Given the description of an element on the screen output the (x, y) to click on. 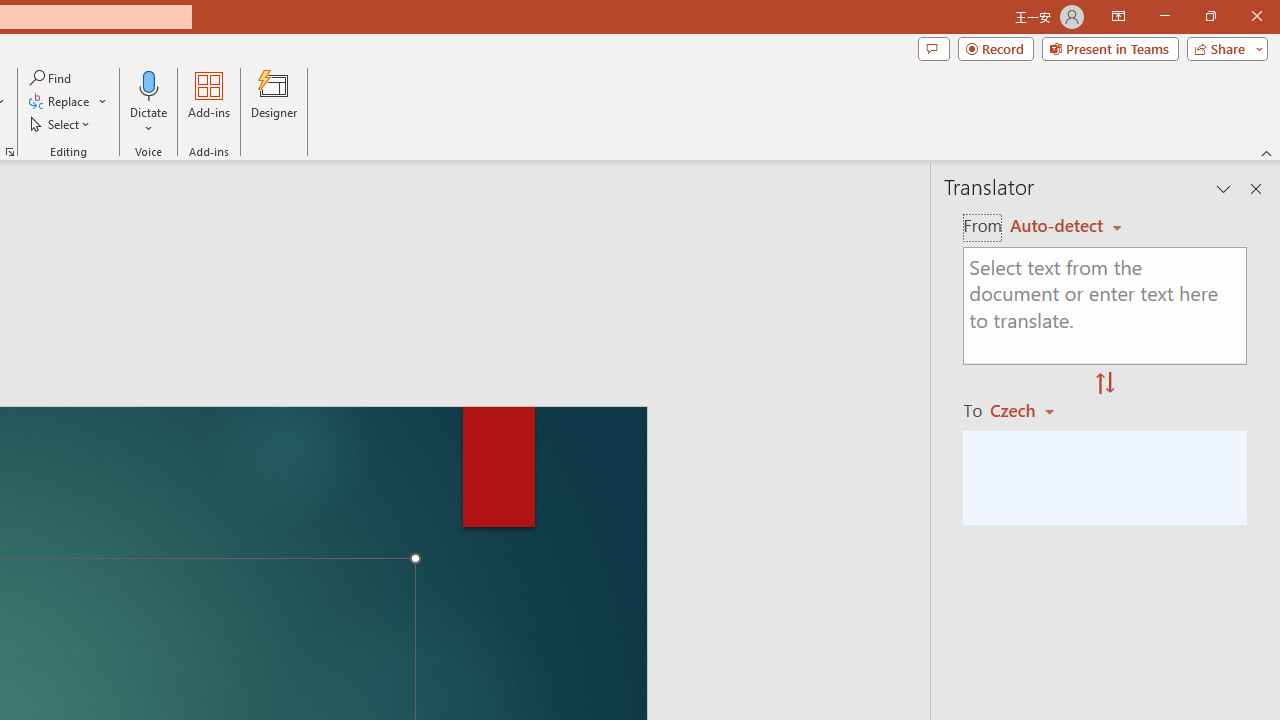
Czech (1030, 409)
